Given the description of an element on the screen output the (x, y) to click on. 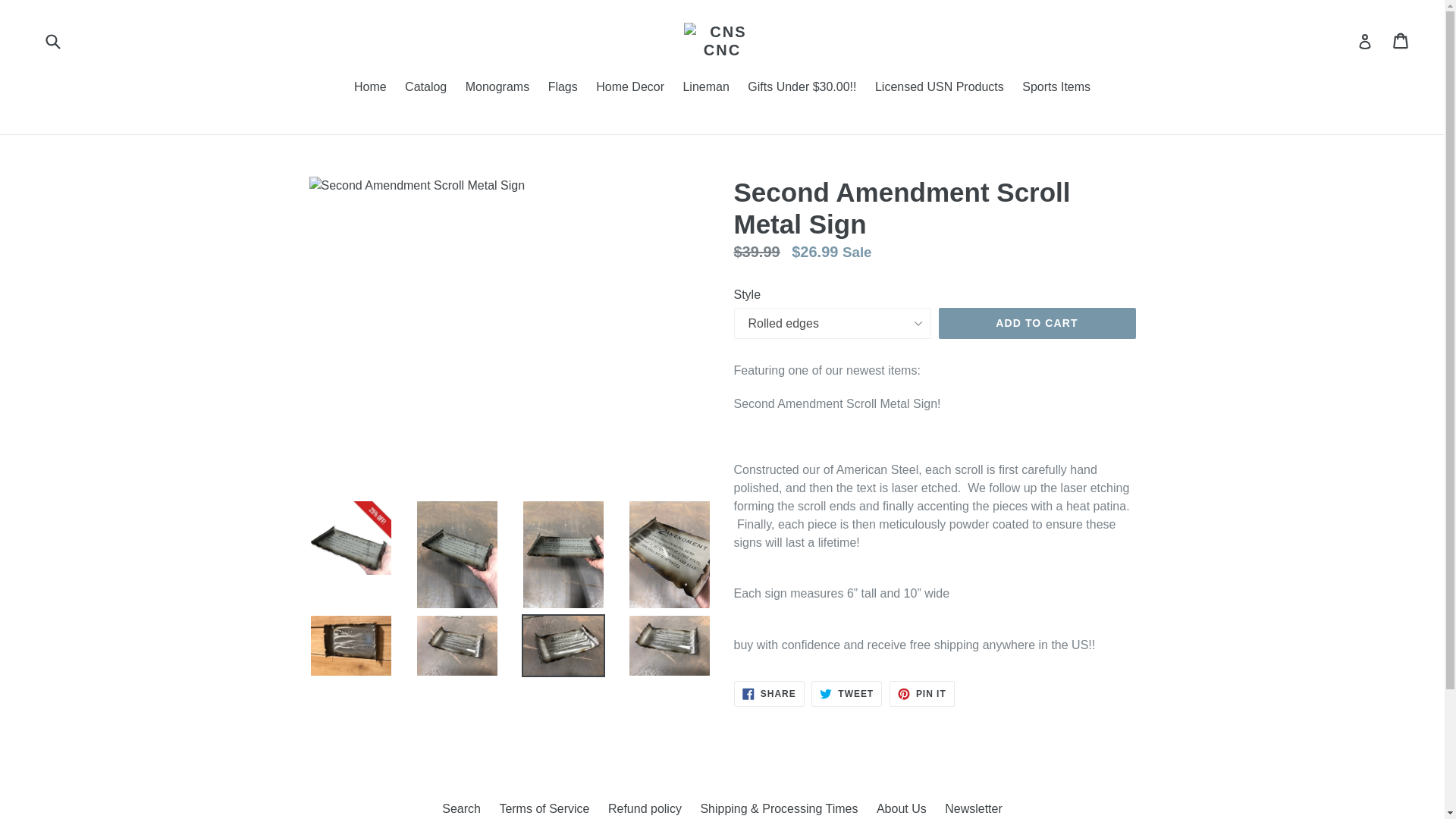
Home (370, 87)
Licensed USN Products (939, 87)
Lineman (846, 693)
Home Decor (705, 87)
Share on Facebook (629, 87)
ADD TO CART (769, 693)
Catalog (1037, 323)
Tweet on Twitter (425, 87)
